Given the description of an element on the screen output the (x, y) to click on. 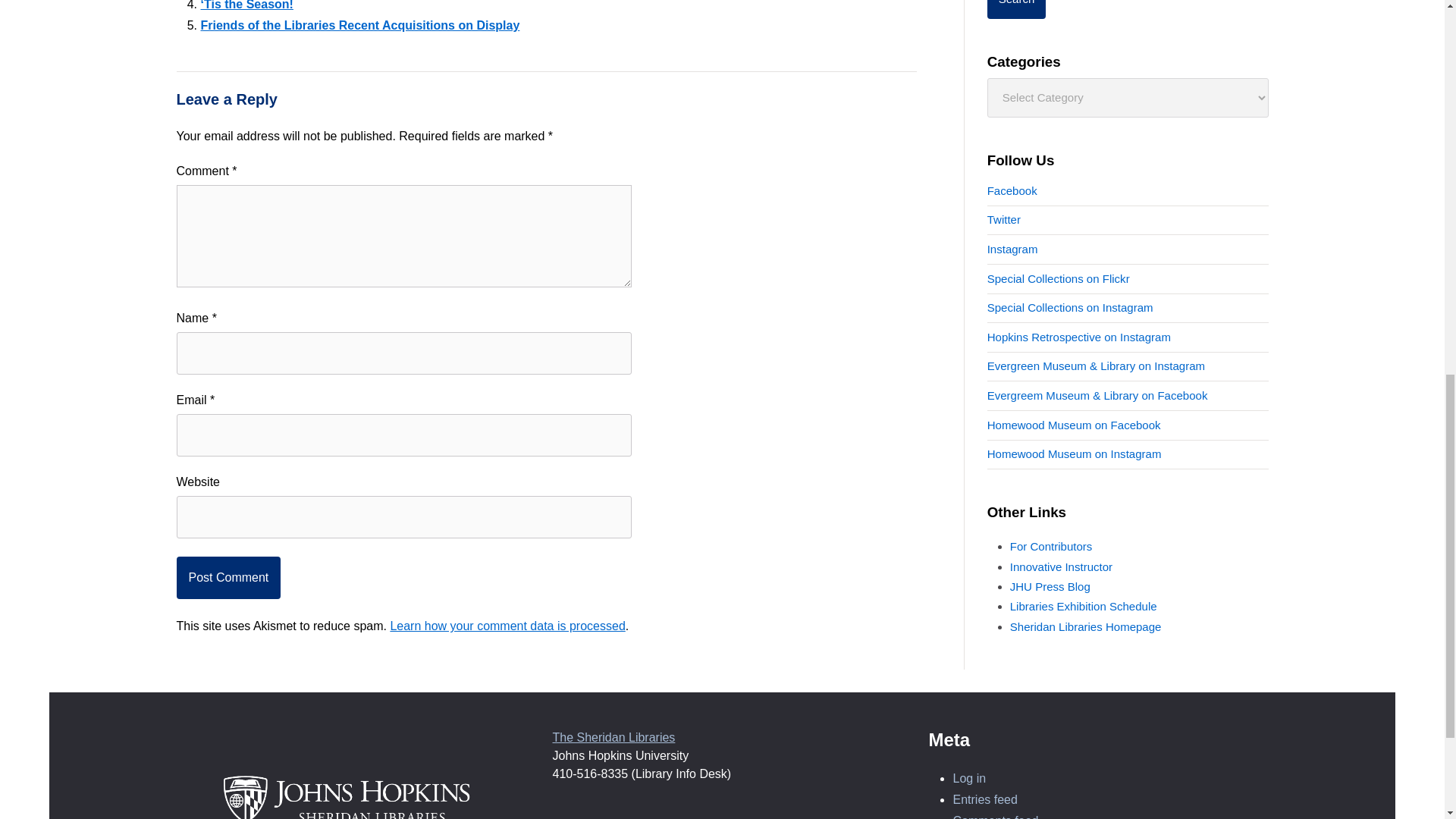
Post Comment (228, 577)
Friends of the Libraries Recent Acquisitions on Display (359, 24)
Instagram (1012, 248)
Search (1016, 9)
Twitter (1003, 219)
Search (1016, 9)
Search (1016, 9)
Learn how your comment data is processed (507, 625)
Post Comment (228, 577)
Facebook (1011, 190)
Friends of the Libraries Recent Acquisitions on Display (359, 24)
